Given the description of an element on the screen output the (x, y) to click on. 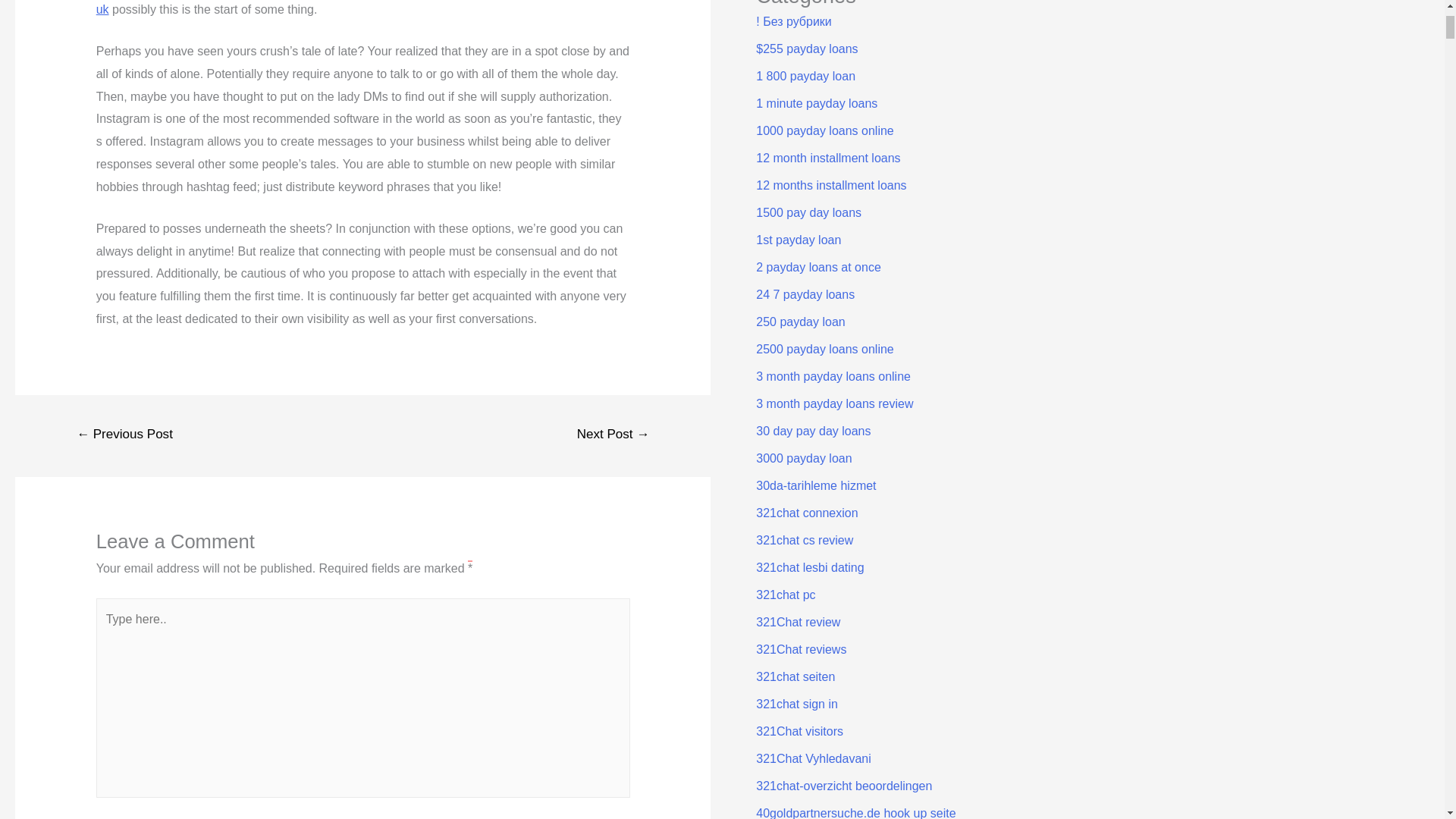
norwegian girls dating uk (358, 7)
